Given the description of an element on the screen output the (x, y) to click on. 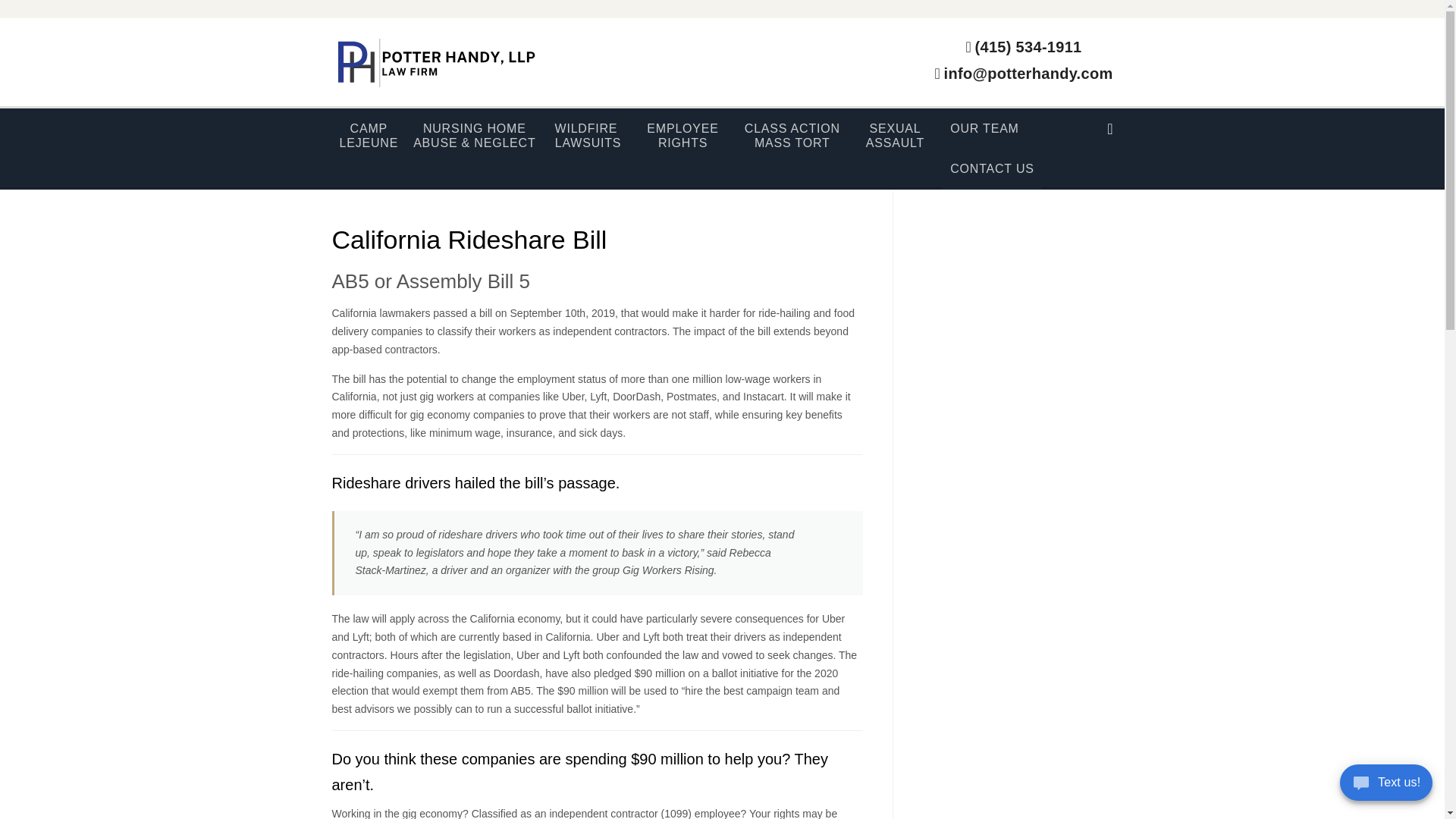
Potter Handy, LLP (368, 135)
